Given the description of an element on the screen output the (x, y) to click on. 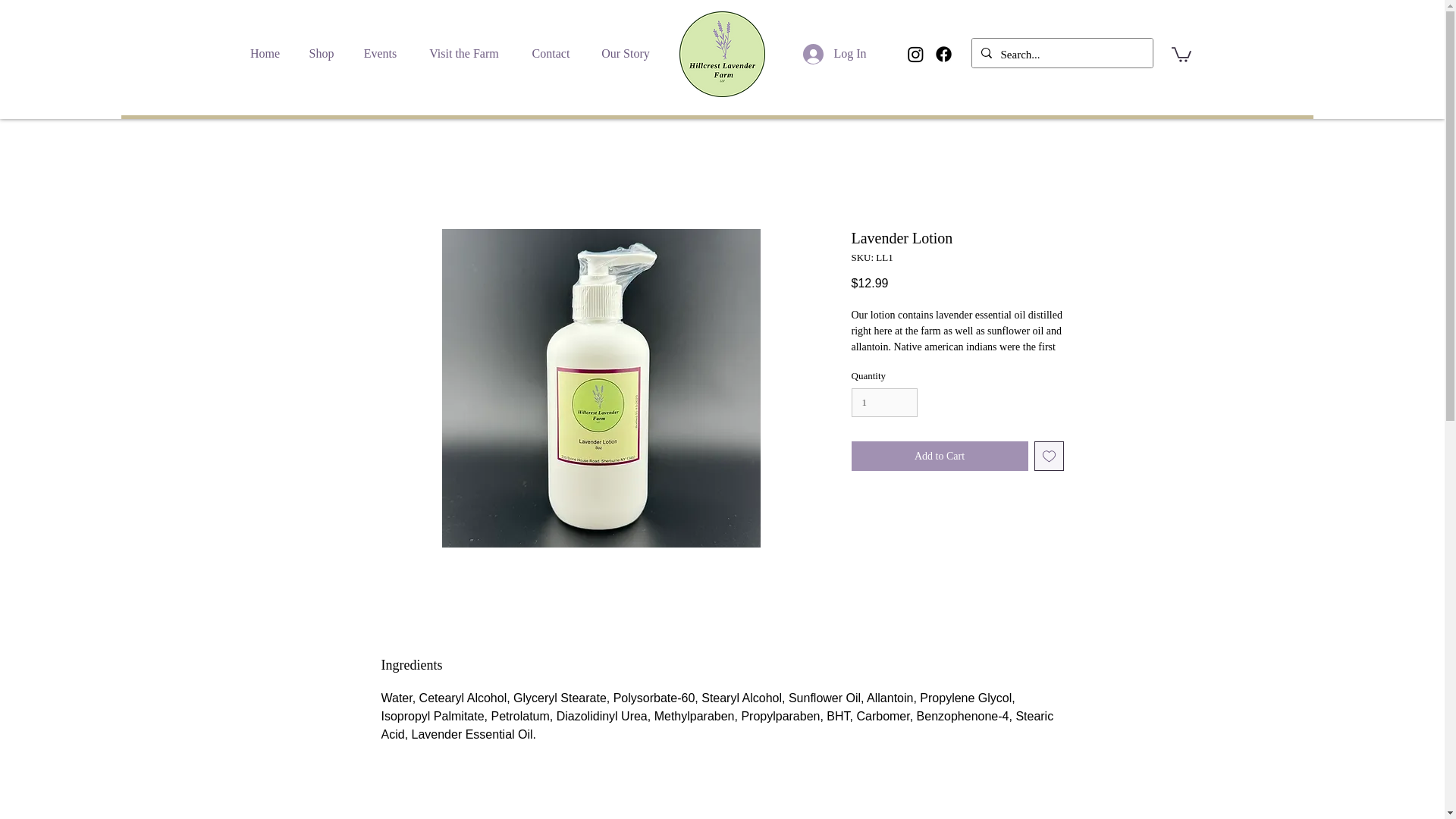
Add to Cart (938, 455)
Events (380, 53)
1 (883, 402)
Home (264, 53)
Our Story (625, 53)
Log In (810, 53)
Contact (550, 53)
